Given the description of an element on the screen output the (x, y) to click on. 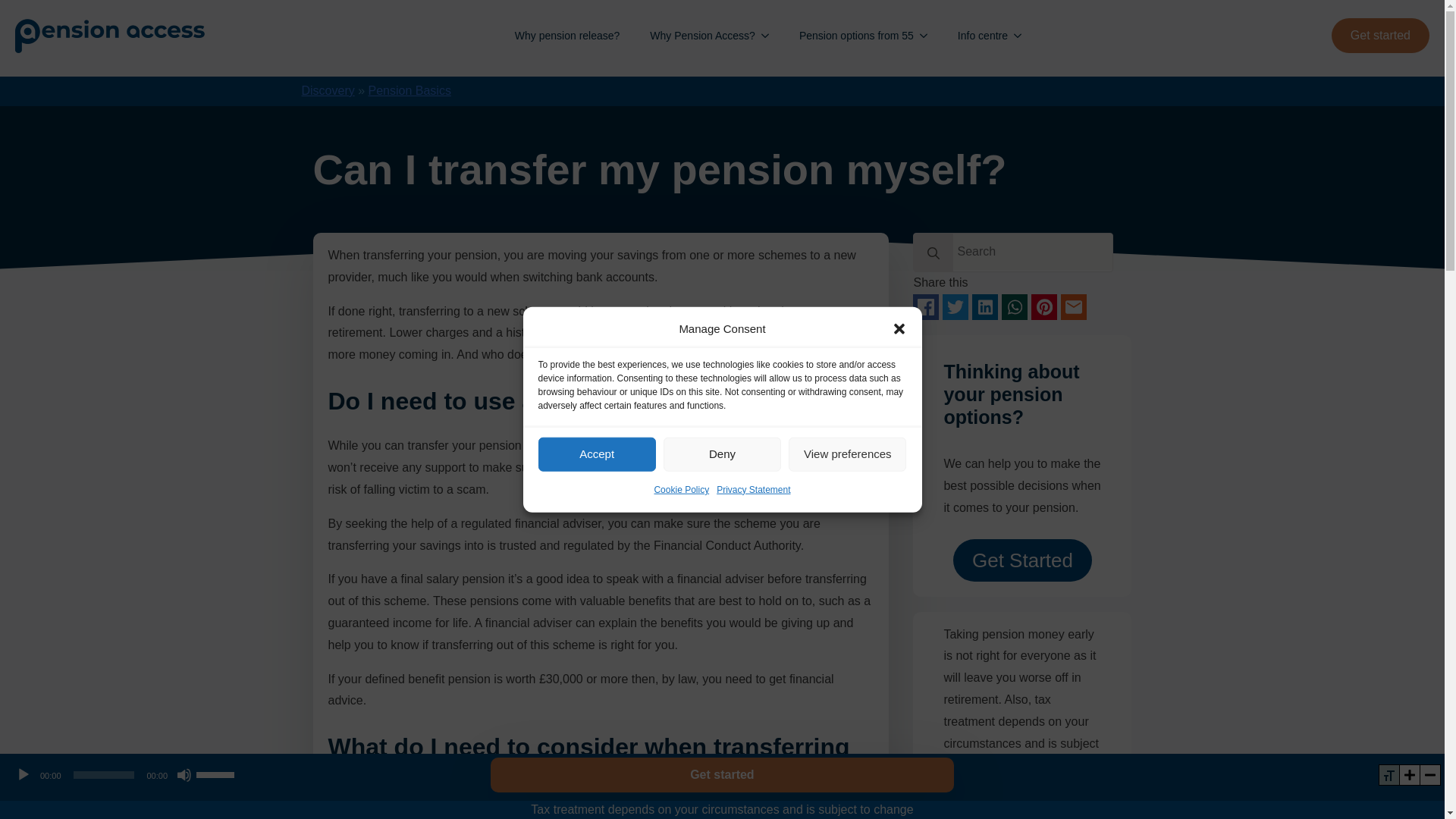
Accept (597, 656)
Cookie Policy (681, 599)
Play (23, 774)
Privacy Statement (753, 582)
View preferences (847, 616)
Info centre (974, 35)
Pension options from 55 (849, 35)
Why pension release? (566, 35)
Deny (721, 642)
Mute (184, 774)
Why Pension Access? (694, 35)
